Given the description of an element on the screen output the (x, y) to click on. 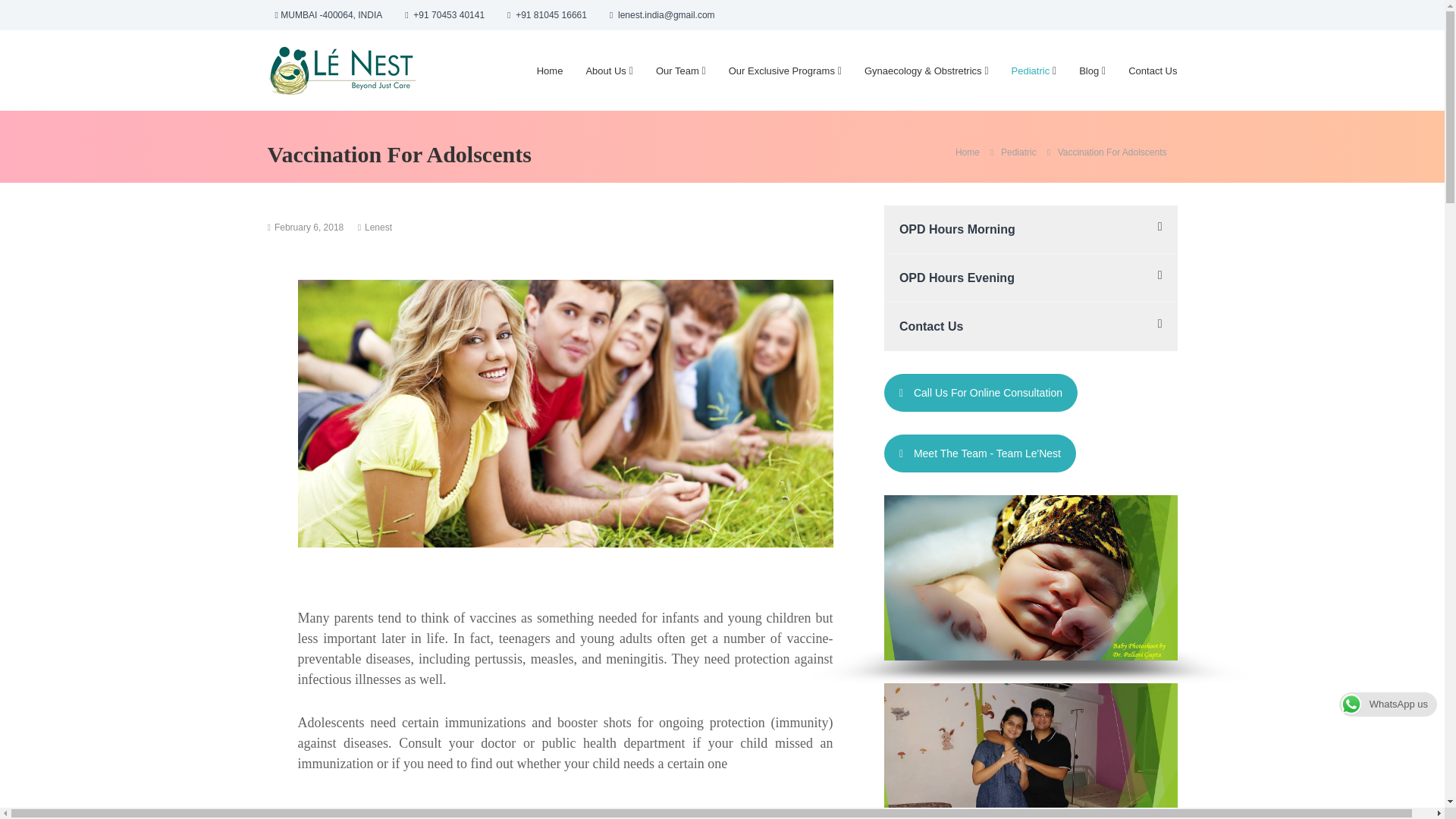
Home (550, 70)
Home (967, 151)
About Us (605, 70)
Our Exclusive Programs (781, 70)
Pediatric (1030, 70)
Our Team (677, 70)
